Given the description of an element on the screen output the (x, y) to click on. 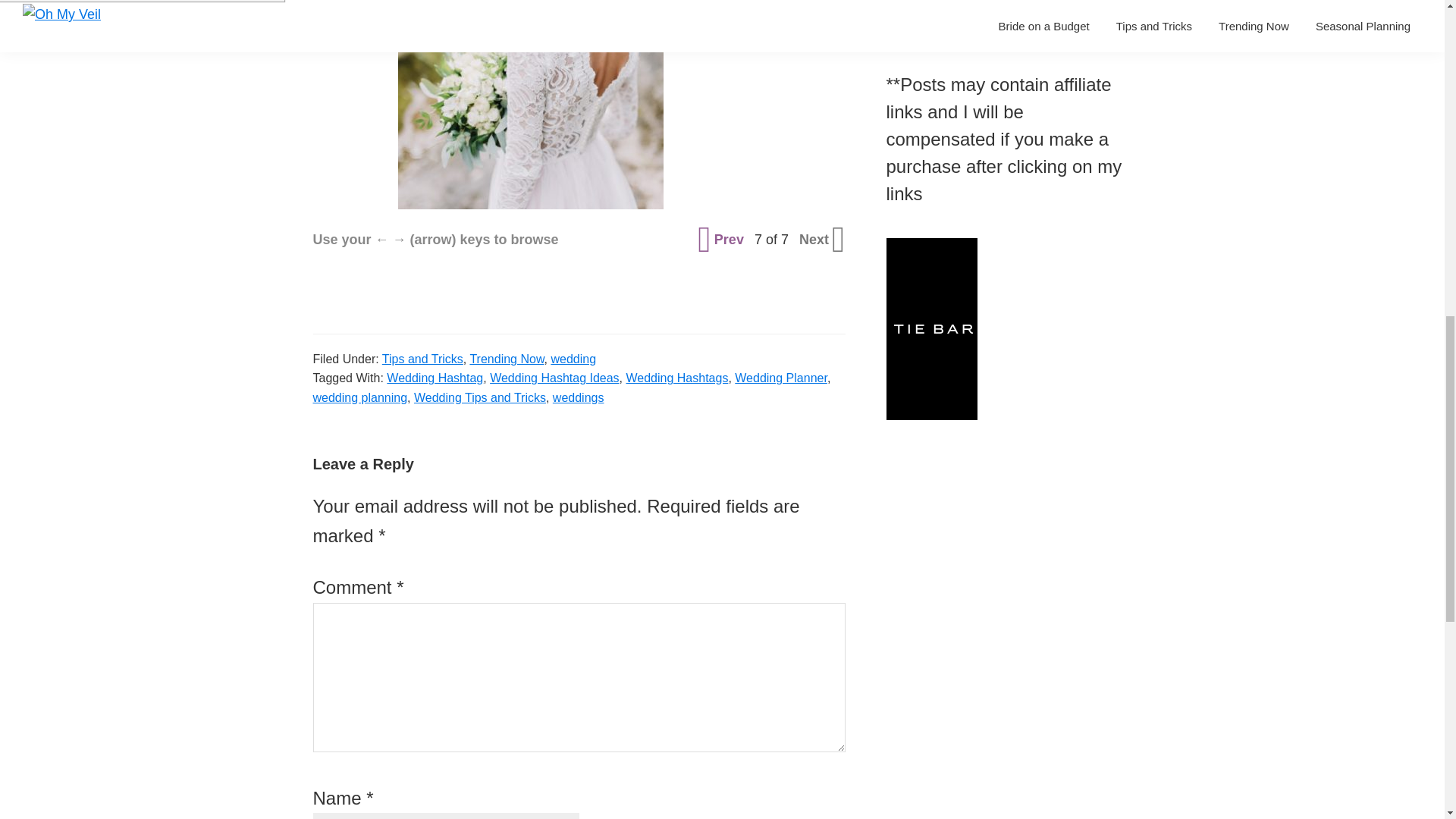
Wedding Hashtag Ideas (553, 377)
Trending Now (505, 358)
Wedding Hashtag (435, 377)
wedding (572, 358)
Tips and Tricks (422, 358)
Advertisement (799, 40)
Wedding Tips and Tricks (479, 397)
weddings (578, 397)
Wedding Hashtags (677, 377)
The Ultimate Pre Wedding Workout Routine (1003, 6)
